Given the description of an element on the screen output the (x, y) to click on. 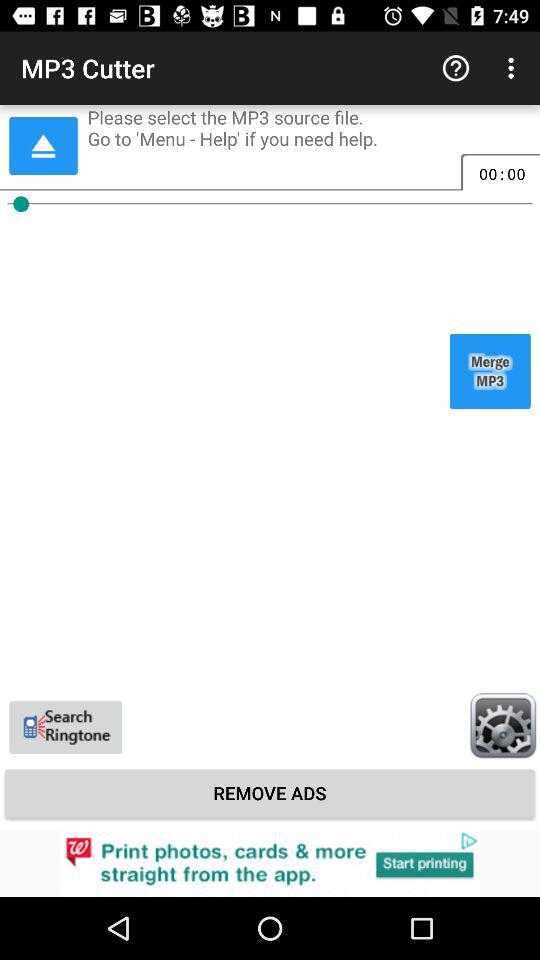
go to search (65, 727)
